Given the description of an element on the screen output the (x, y) to click on. 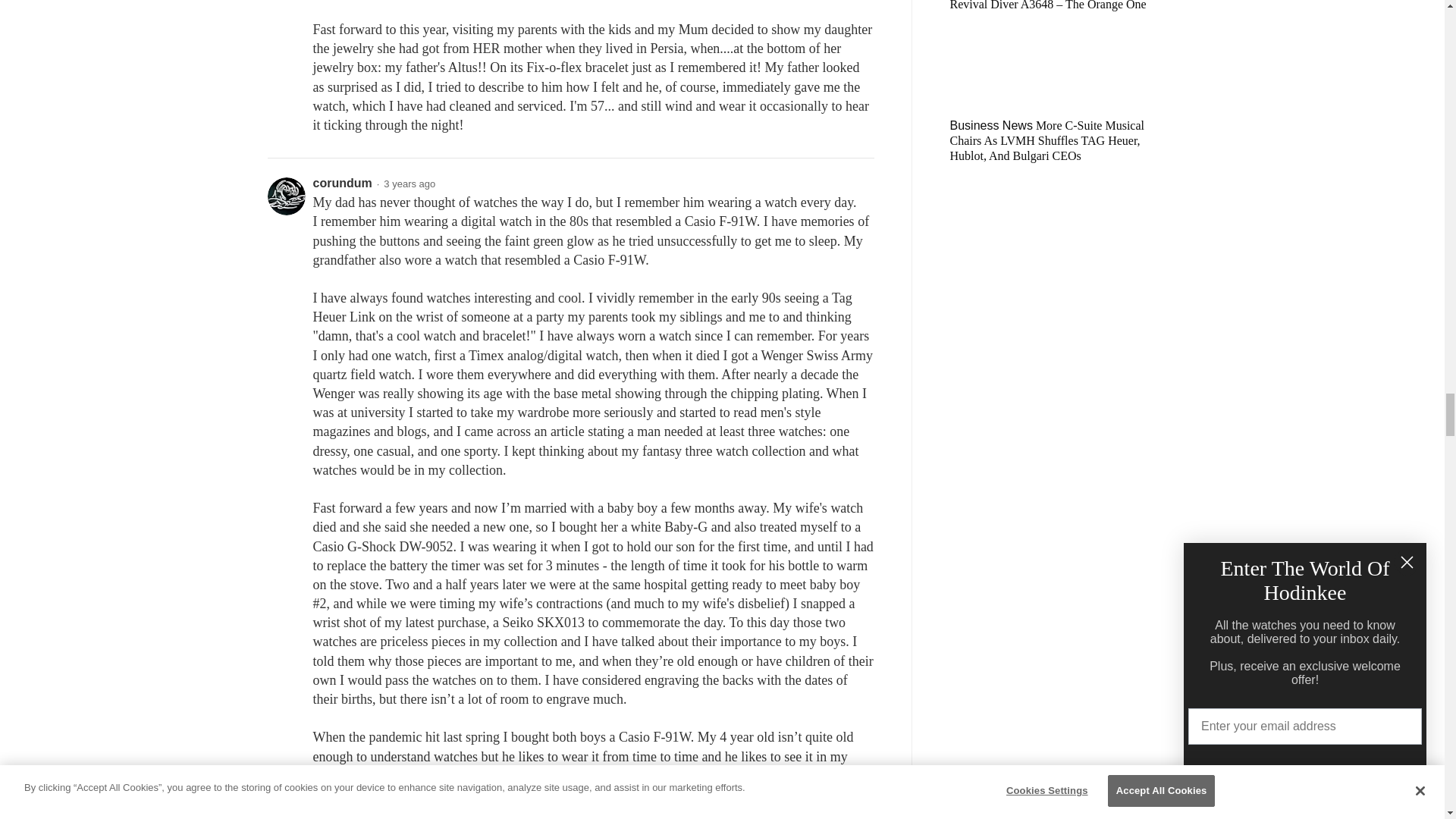
2021-06-20 15:18 (409, 183)
